Given the description of an element on the screen output the (x, y) to click on. 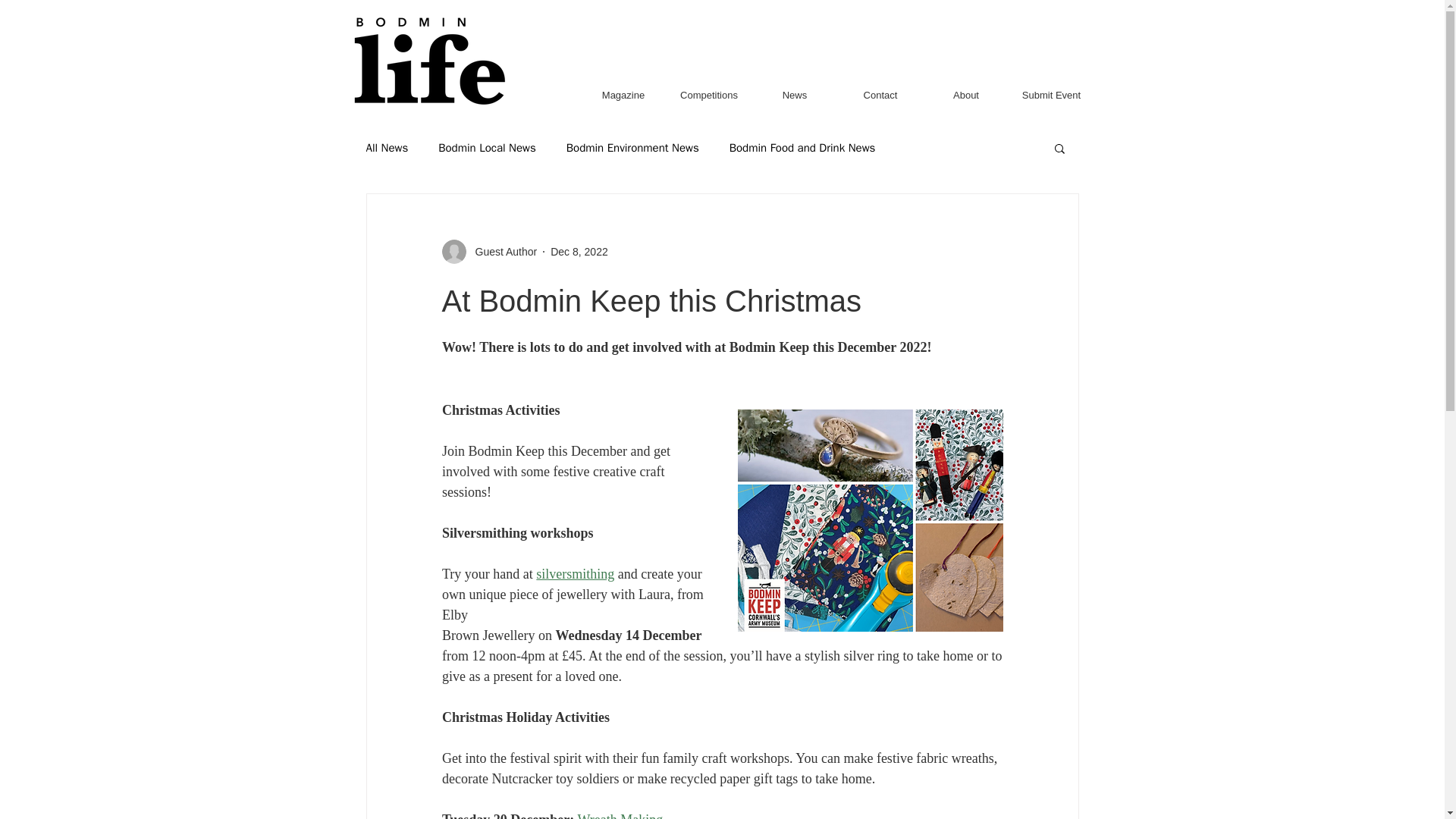
About (966, 95)
Magazine (623, 95)
Contact (880, 95)
Bodmin Environment News (632, 147)
Submit Event (1051, 95)
Guest Author (501, 252)
Bodmin Local News (486, 147)
Competitions (708, 95)
Guest Author (489, 251)
silversmithing (574, 573)
